Given the description of an element on the screen output the (x, y) to click on. 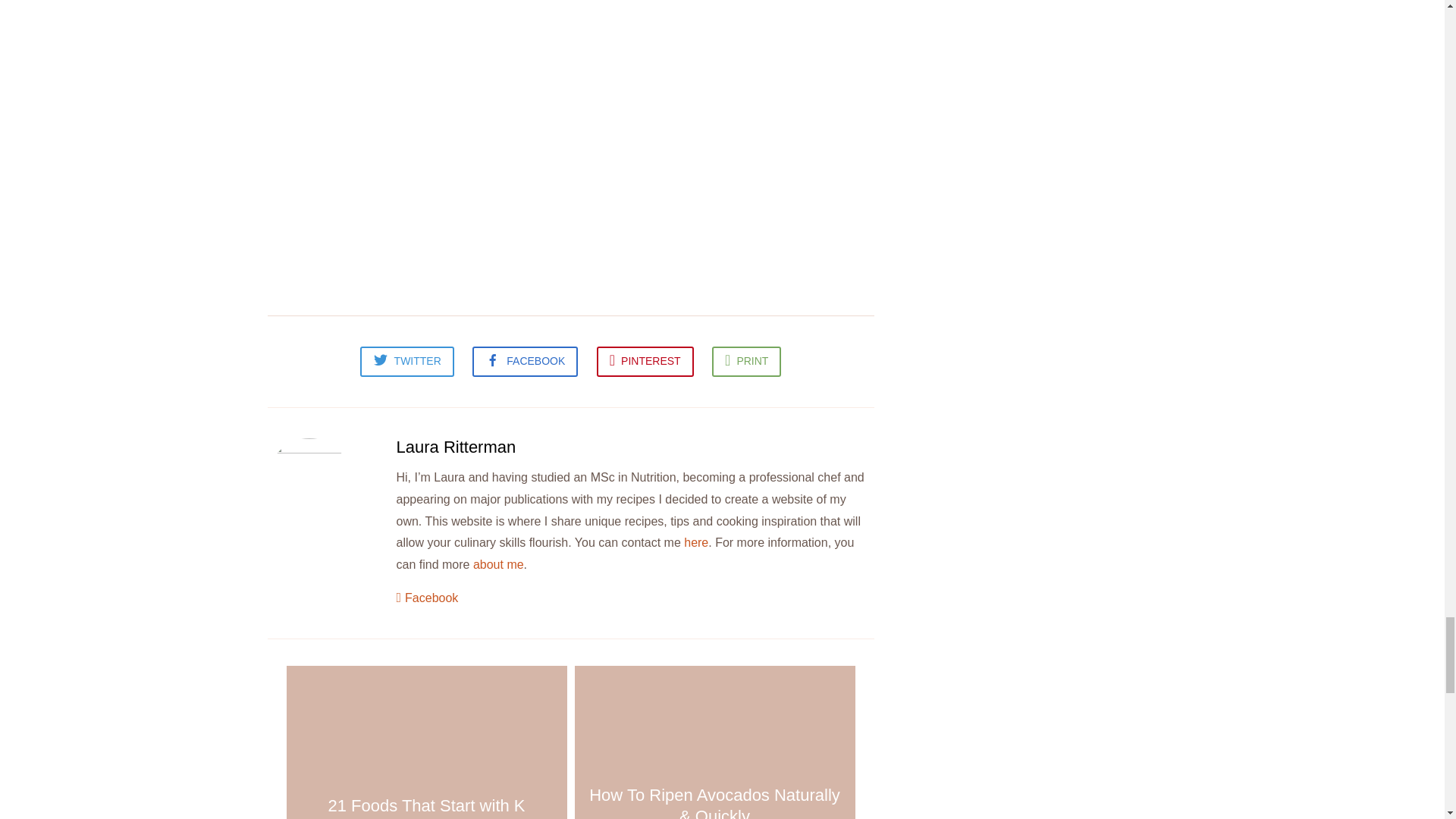
Posts by Laura Ritterman (455, 446)
Print this Page (745, 361)
Tweet this on Twitter (406, 361)
Pin it to Pinterest (645, 361)
Share this on Facebook (524, 361)
